Given the description of an element on the screen output the (x, y) to click on. 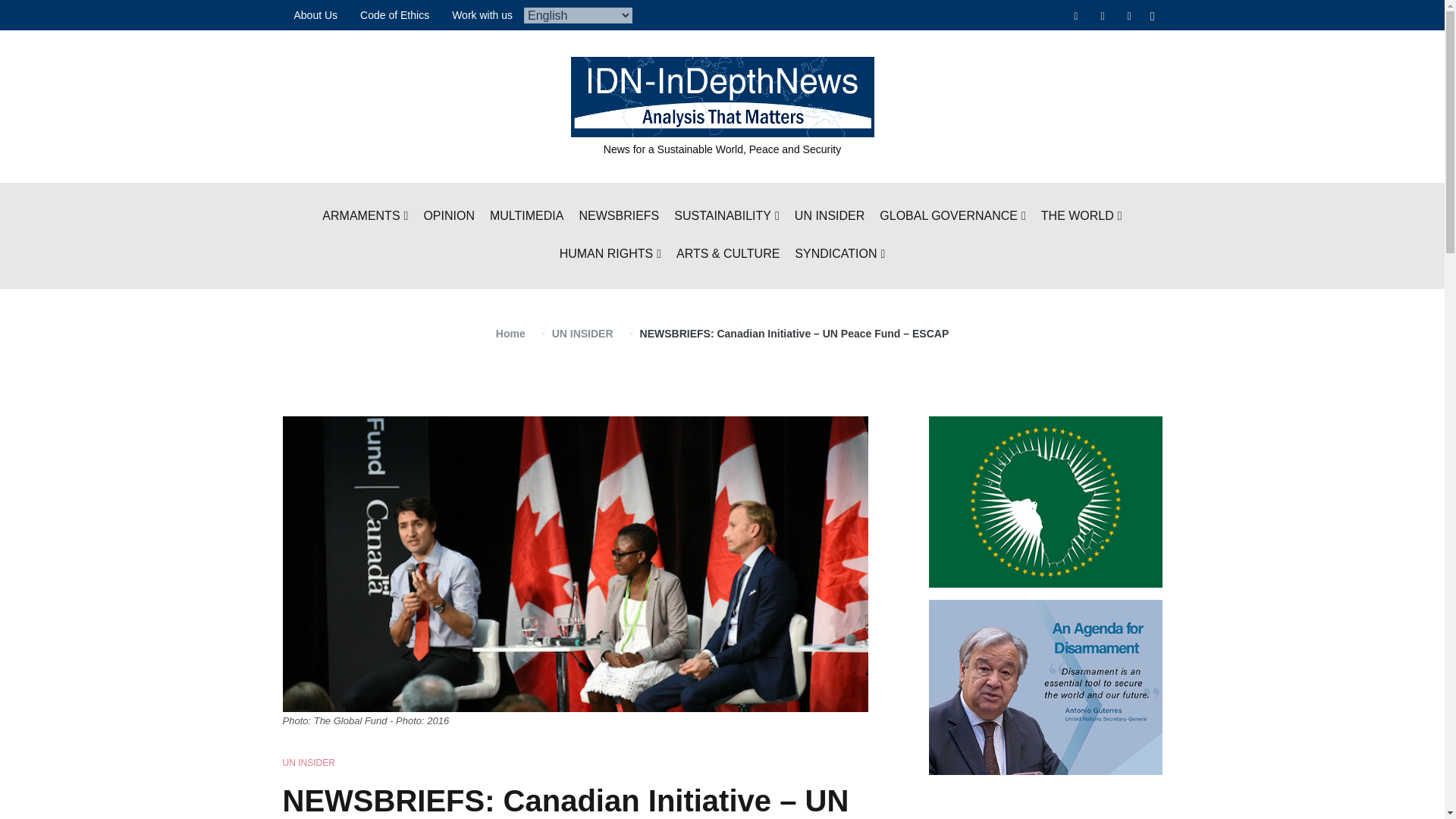
MULTIMEDIA (526, 216)
Work with us (482, 14)
UN INSIDER (829, 216)
About Us (315, 14)
SUSTAINABILITY (726, 216)
ARMAMENTS (364, 216)
Code of Ethics (395, 14)
NEWSBRIEFS (618, 216)
OPINION (448, 216)
GLOBAL GOVERNANCE (952, 216)
